Given the description of an element on the screen output the (x, y) to click on. 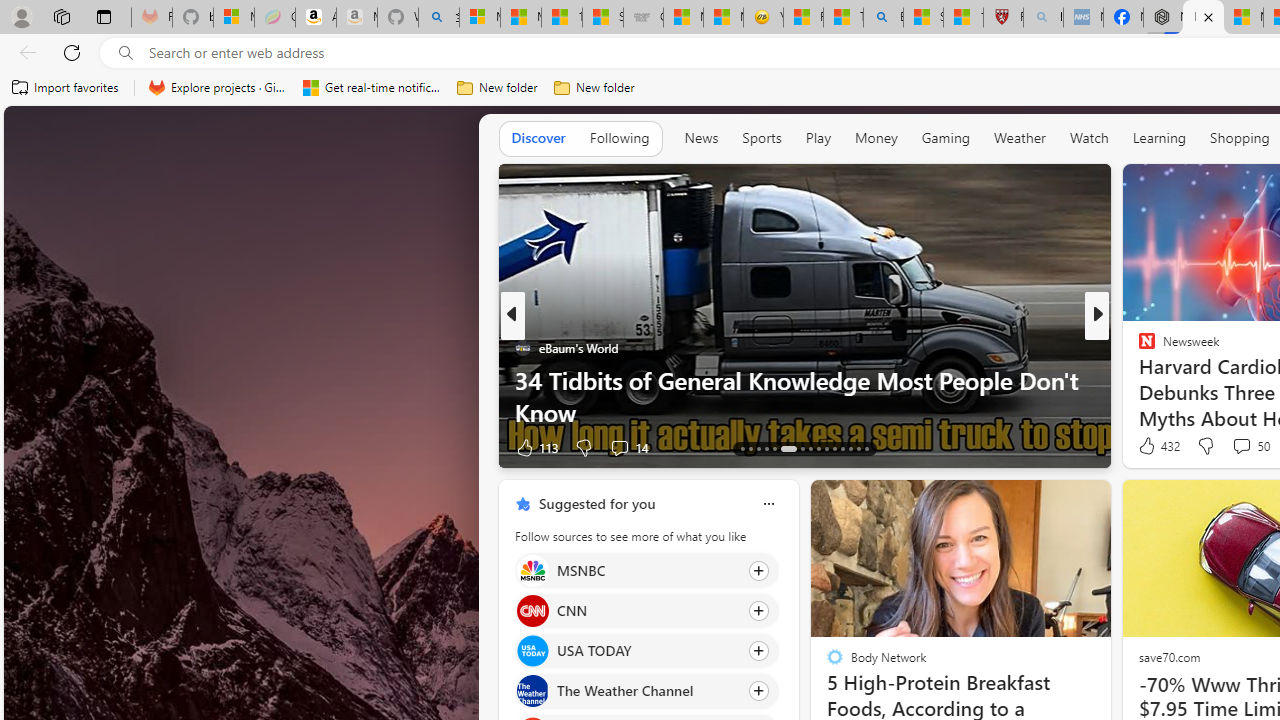
451 Like (1151, 447)
Recipes - MSN (803, 17)
AutomationID: tab-70 (774, 448)
The Motley Fool (1138, 347)
View comments 6 Comment (1234, 447)
Only Earthlings (1138, 380)
Nordace - Nordace Siena Is Not An Ordinary Backpack (1163, 17)
Search icon (125, 53)
182 Like (1151, 447)
Learning (1159, 138)
View comments 14 Comment (1234, 447)
View comments 12 Comment (11, 447)
Sports (761, 138)
AutomationID: tab-68 (757, 448)
Money (876, 138)
